Given the description of an element on the screen output the (x, y) to click on. 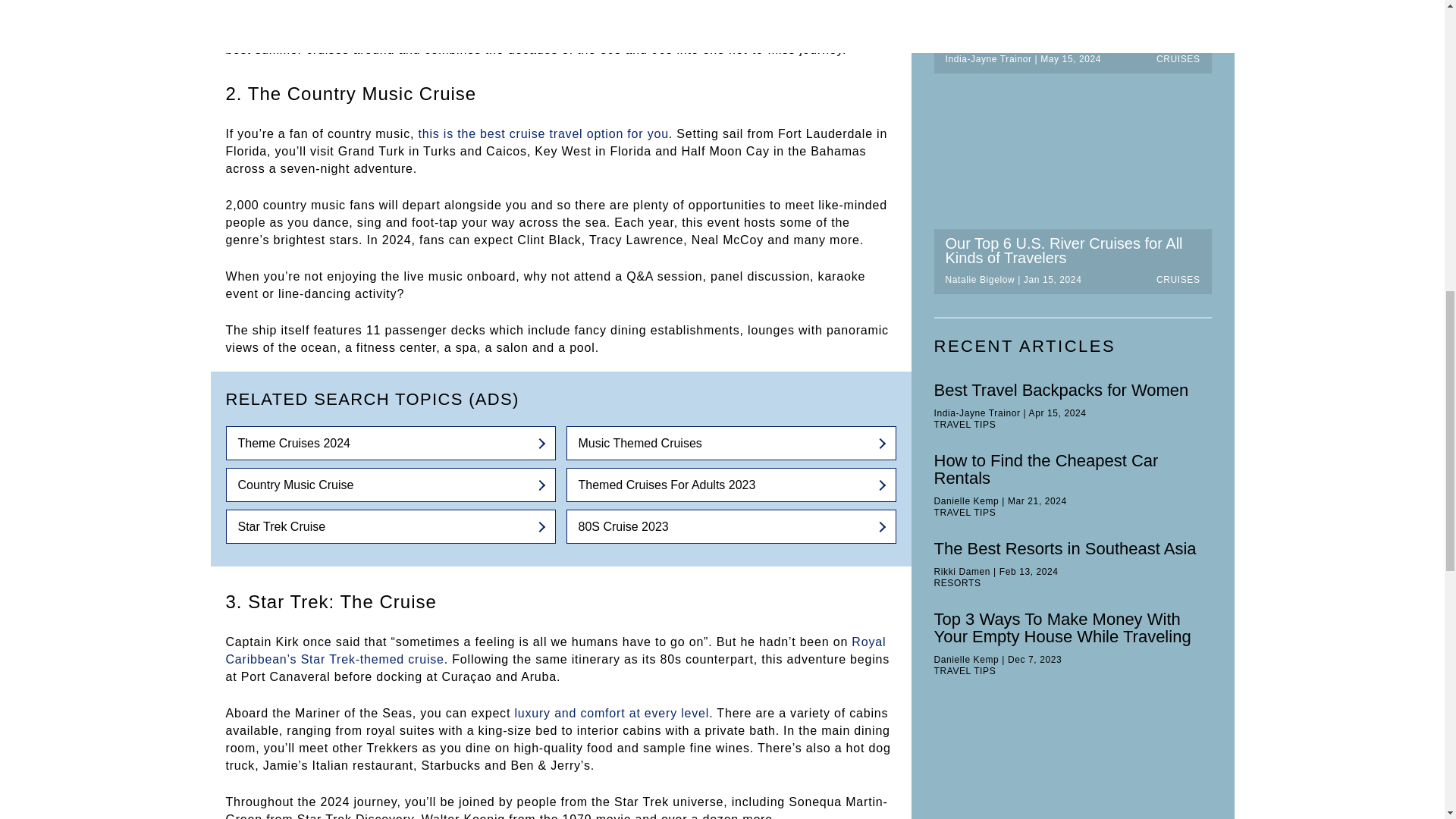
Star Trek Cruise (390, 526)
80S Cruise 2023 (730, 526)
Theme Cruises 2024 (390, 442)
Themed Cruises For Adults 2023 (730, 484)
Country Music Cruise (390, 484)
luxury and comfort at every level (611, 712)
Music Themed Cruises (730, 442)
this is the best cruise travel option for you (542, 133)
